Given the description of an element on the screen output the (x, y) to click on. 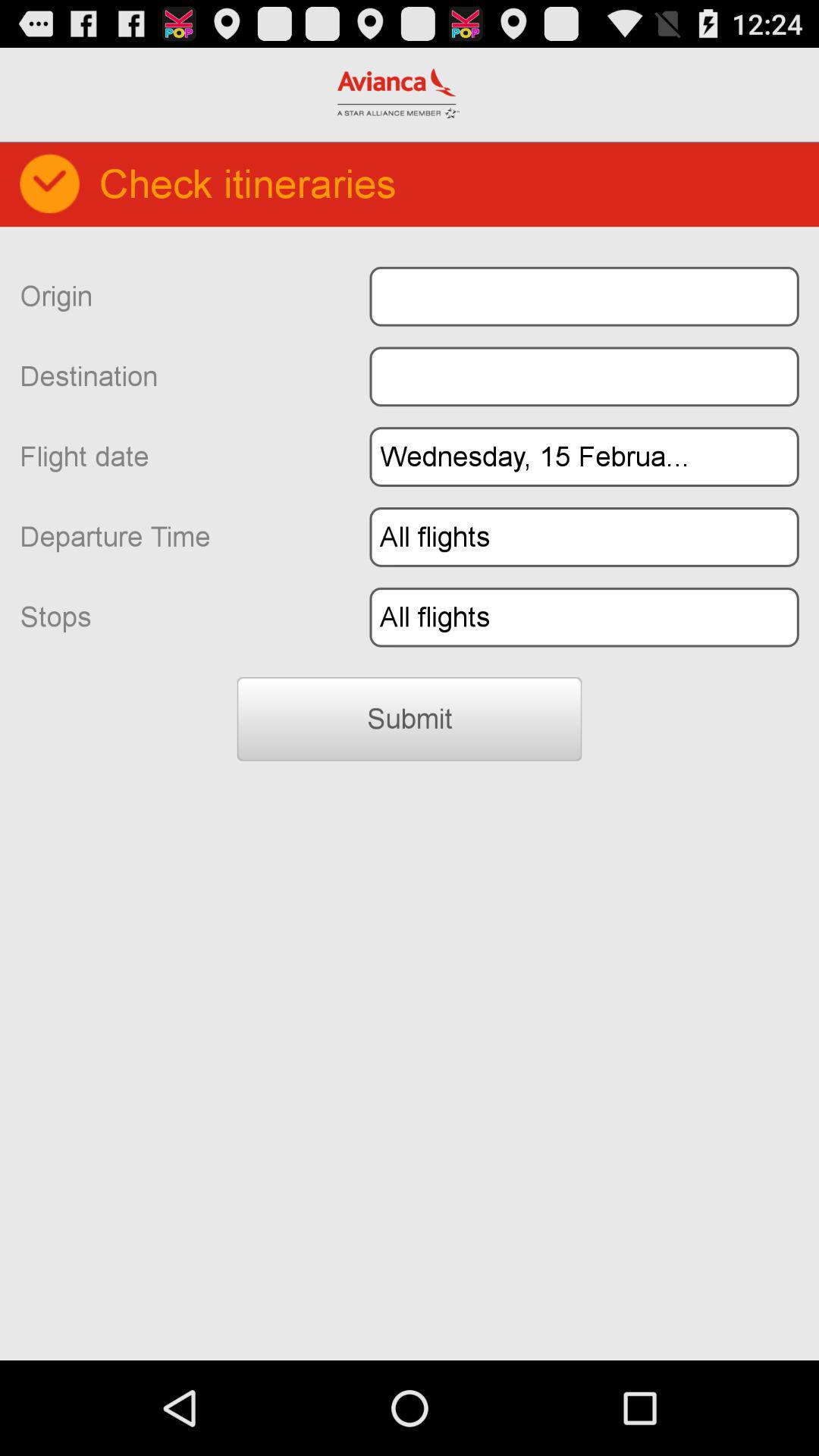
select the item below check itineraries app (584, 296)
